Given the description of an element on the screen output the (x, y) to click on. 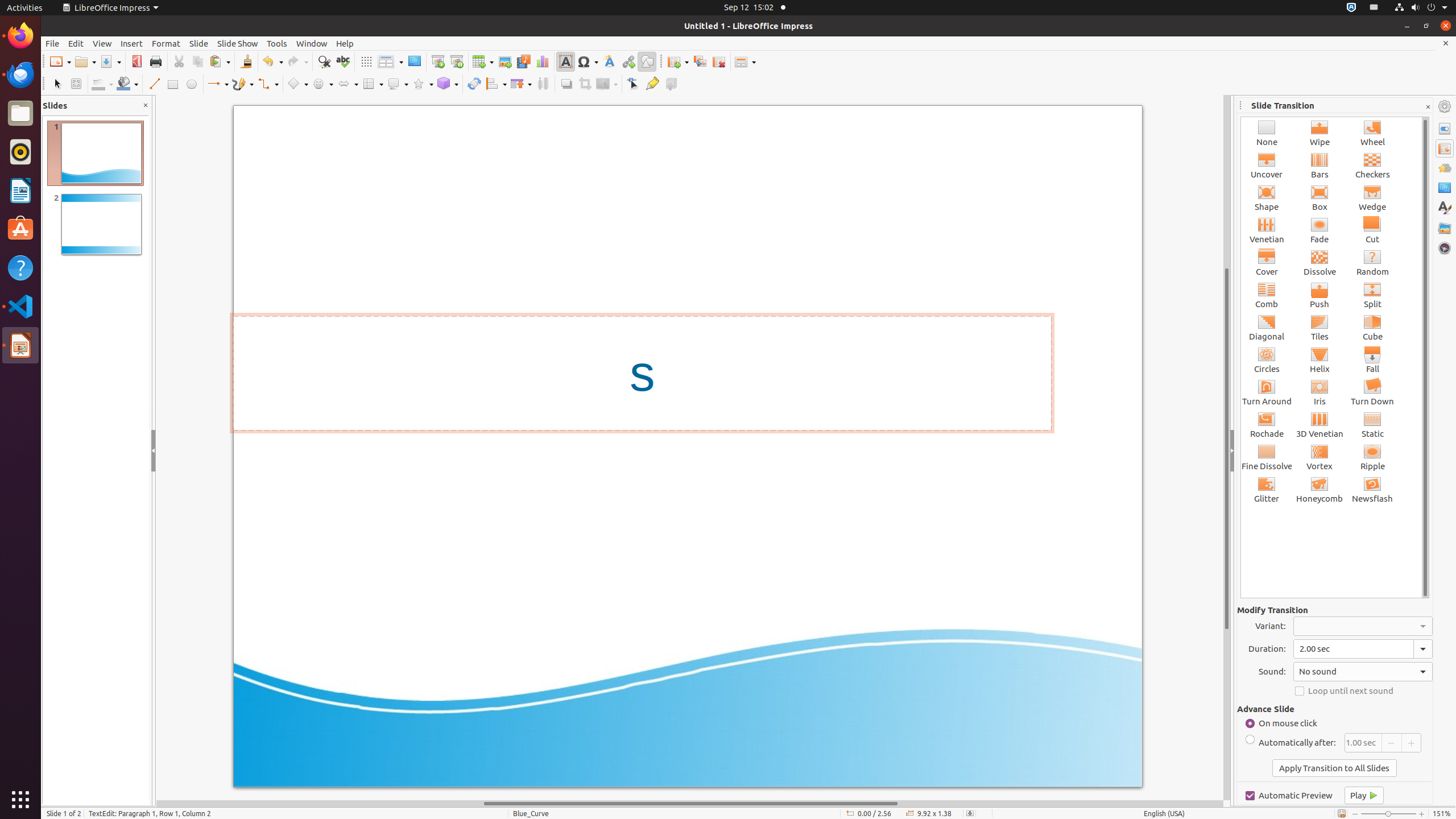
Save Element type: push-button (109, 61)
Dissolve Element type: list-item (1319, 262)
Tiles Element type: list-item (1319, 326)
Curves and Polygons Element type: push-button (242, 83)
Gallery Element type: radio-button (1444, 227)
